Given the description of an element on the screen output the (x, y) to click on. 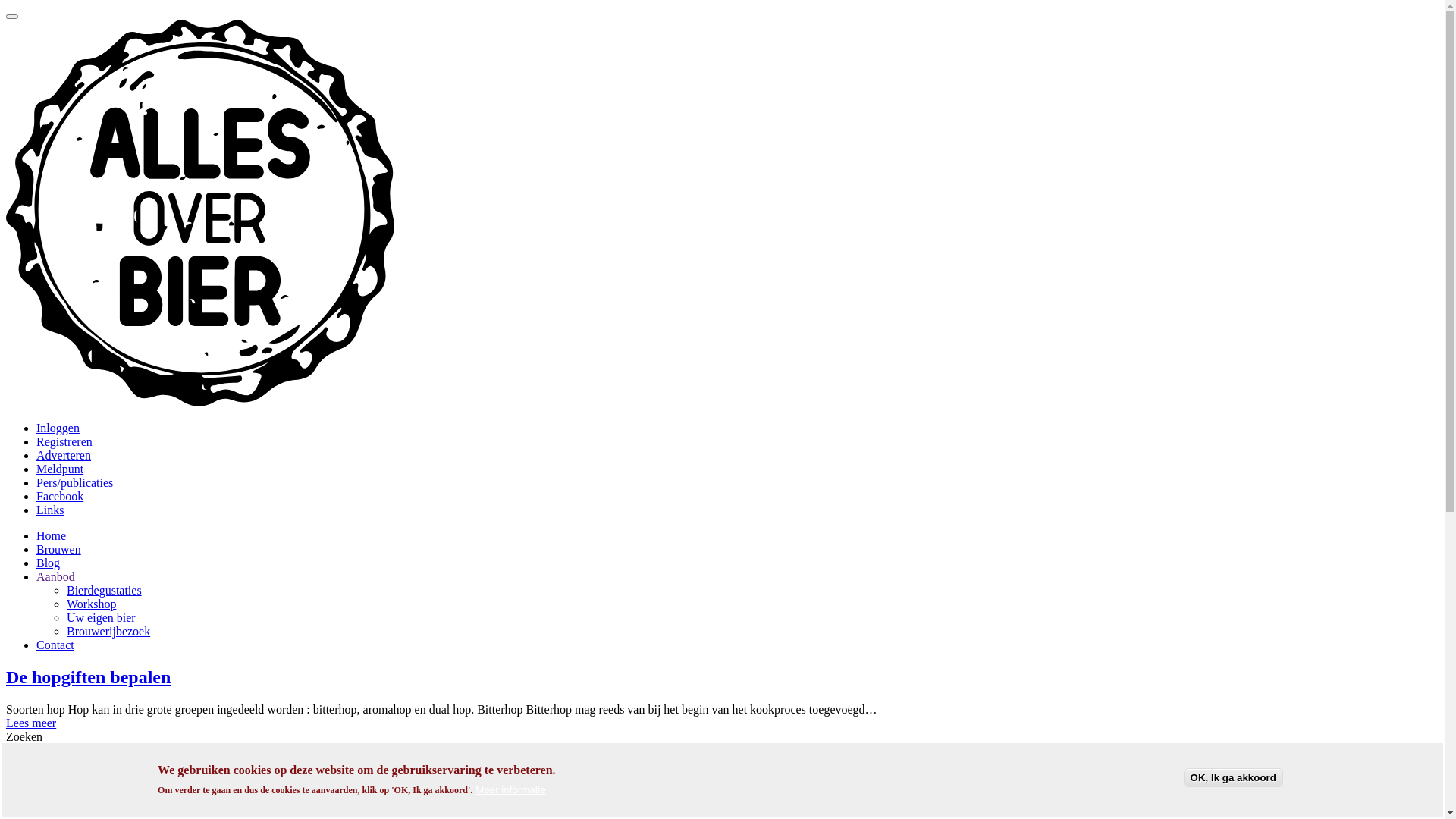
Uw eigen bier Element type: text (100, 617)
Home Element type: text (50, 535)
Bierdegustaties Element type: text (103, 589)
De hopgiften bepalen Element type: text (88, 677)
Meldpunt Element type: text (59, 468)
Workshop Element type: text (91, 603)
Links Element type: text (49, 509)
Overslaan en naar de inhoud gaan Element type: text (6, 6)
Brouwerijbezoek Element type: text (108, 630)
Contact Element type: text (55, 644)
Zoeken Element type: text (28, 767)
Inloggen Element type: text (57, 427)
Brouwen Element type: text (58, 548)
Facebook Element type: text (59, 495)
Home Element type: hover (200, 401)
Blog Element type: text (47, 562)
Aanbod Element type: text (55, 576)
Lees meer Element type: text (31, 722)
Meer informatie Element type: text (510, 789)
Registreren Element type: text (64, 441)
Pers/publicaties Element type: text (74, 482)
Geef de woorden op waarnaar u wilt zoeken. Element type: hover (57, 751)
Adverteren Element type: text (63, 454)
OK, Ik ga akkoord Element type: text (1233, 777)
